Given the description of an element on the screen output the (x, y) to click on. 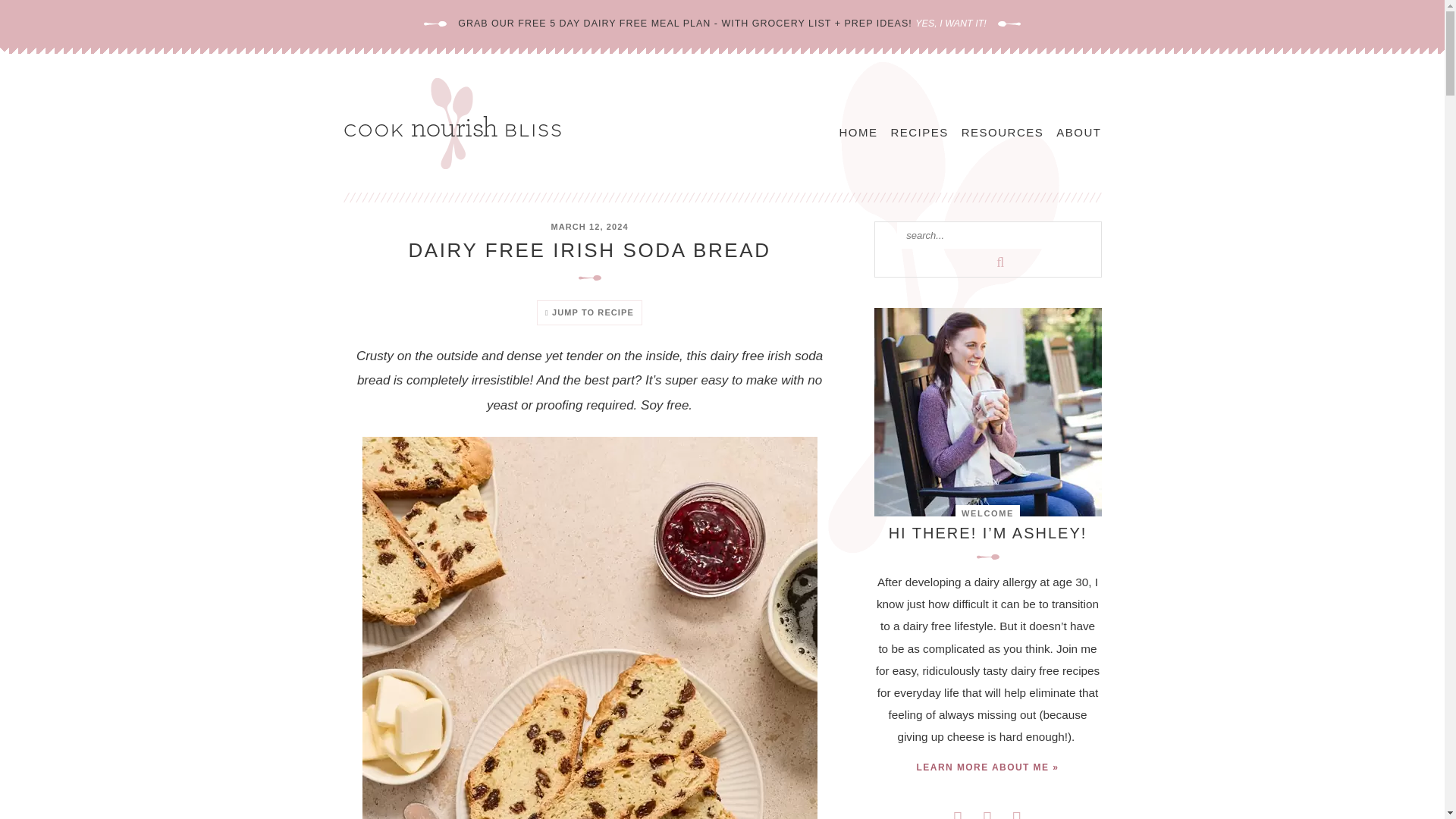
YES, I WANT IT! (951, 23)
Instagram (1017, 813)
RESOURCES (1002, 132)
Pinterest (987, 813)
ABOUT (1078, 132)
JUMP TO RECIPE (589, 312)
RECIPES (918, 132)
Facebook (957, 813)
HOME (858, 132)
